Given the description of an element on the screen output the (x, y) to click on. 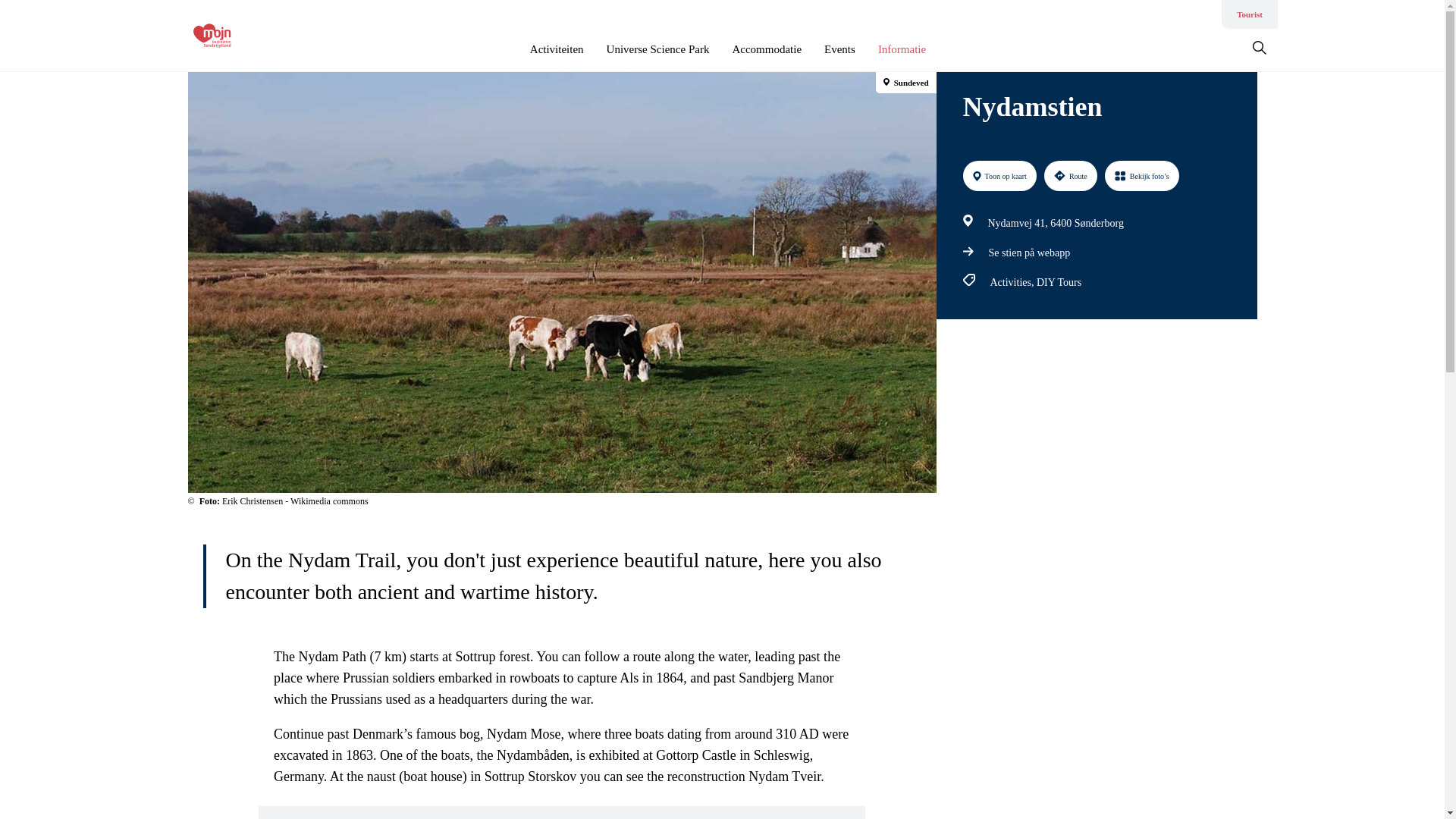
Path (968, 251)
Activiteiten (556, 49)
Sundeved (906, 82)
Go to homepage (253, 35)
Toon op kaart (999, 175)
Informatie (901, 49)
Accommodatie (767, 49)
Events (840, 49)
Tourist (1248, 14)
Universe Science Park (658, 49)
DIY Tours (1058, 282)
Activities,  (1013, 282)
Route (1070, 175)
